Given the description of an element on the screen output the (x, y) to click on. 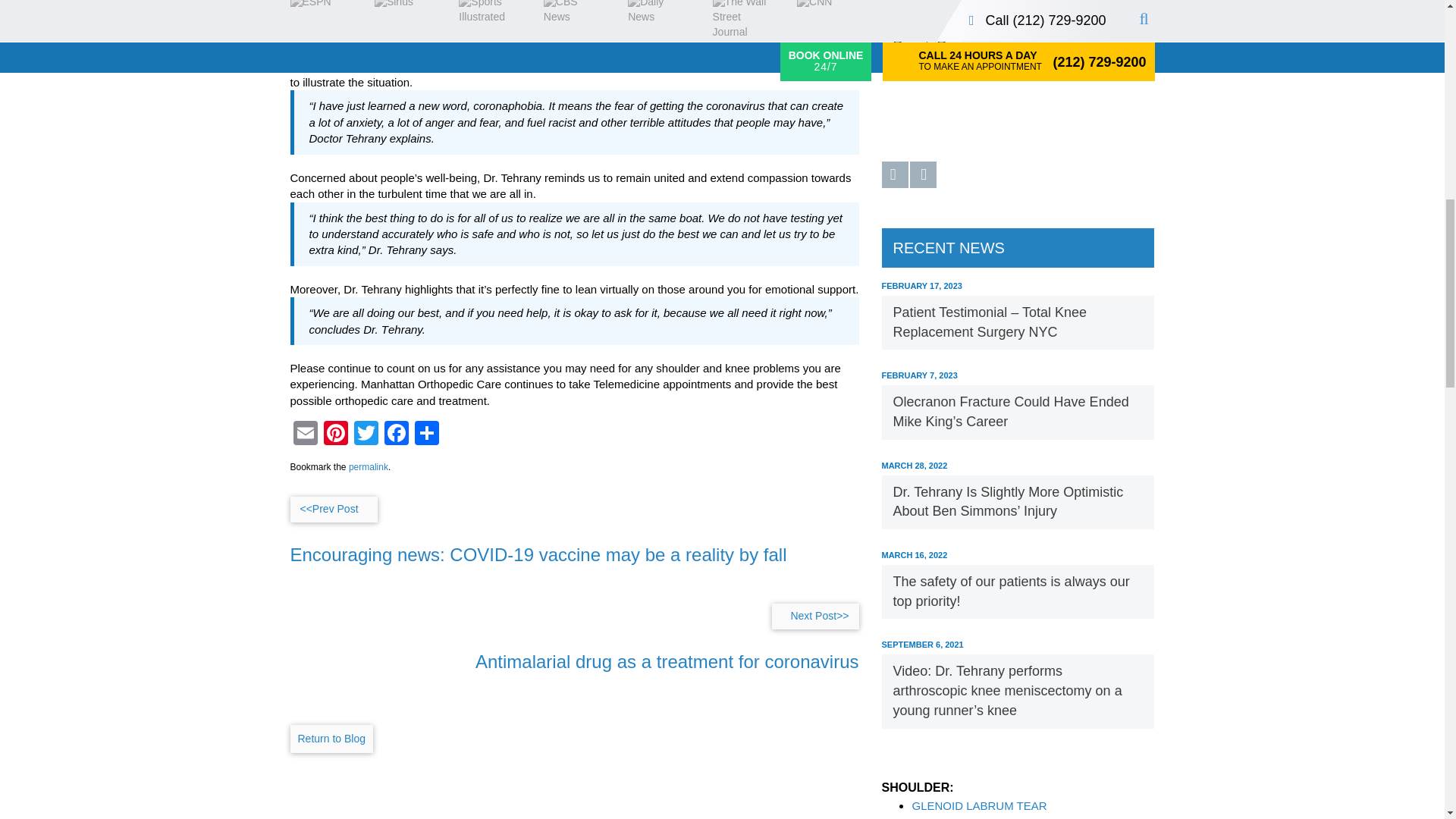
Facebook (395, 434)
Pinterest (335, 434)
Email (304, 434)
Twitter (365, 434)
